Given the description of an element on the screen output the (x, y) to click on. 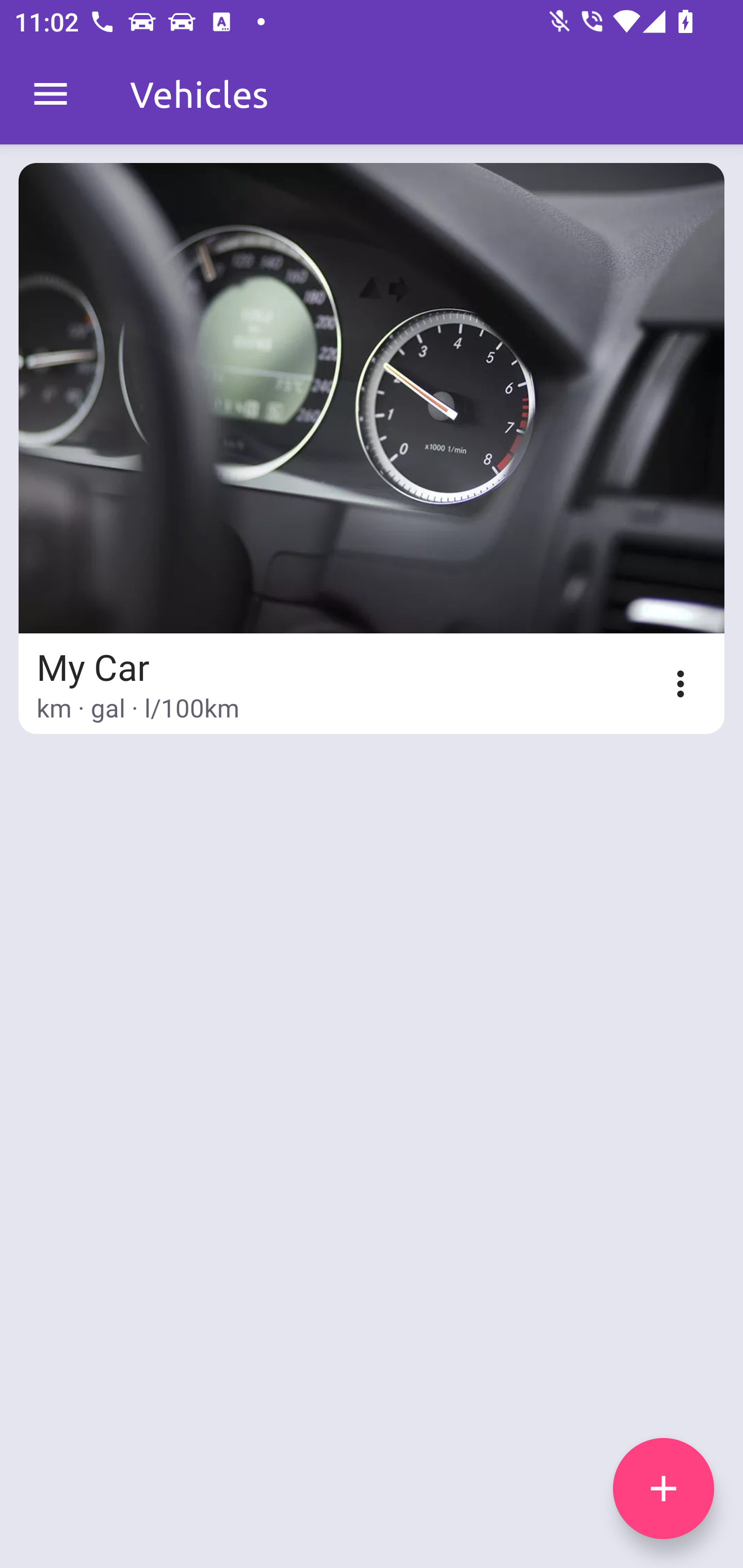
MenuDrawer (50, 93)
My Car km · gal · l/100km (371, 448)
add icon (663, 1488)
